Given the description of an element on the screen output the (x, y) to click on. 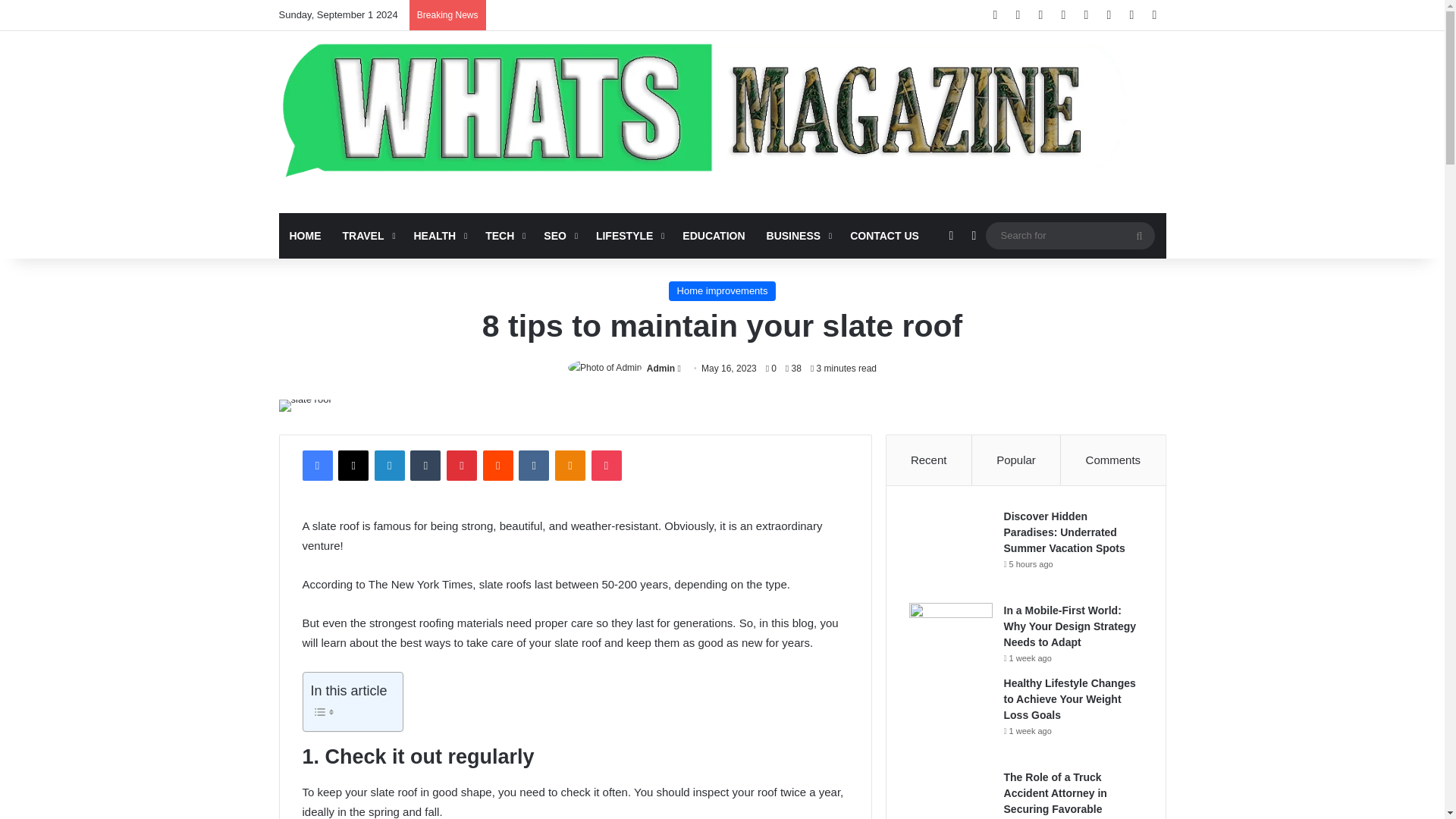
Pinterest (461, 465)
Facebook (316, 465)
LIFESTYLE (628, 235)
TRAVEL (367, 235)
Whatsmagazine (722, 106)
TECH (503, 235)
BUSINESS (797, 235)
Admin (660, 368)
X (352, 465)
Tumblr (425, 465)
